Given the description of an element on the screen output the (x, y) to click on. 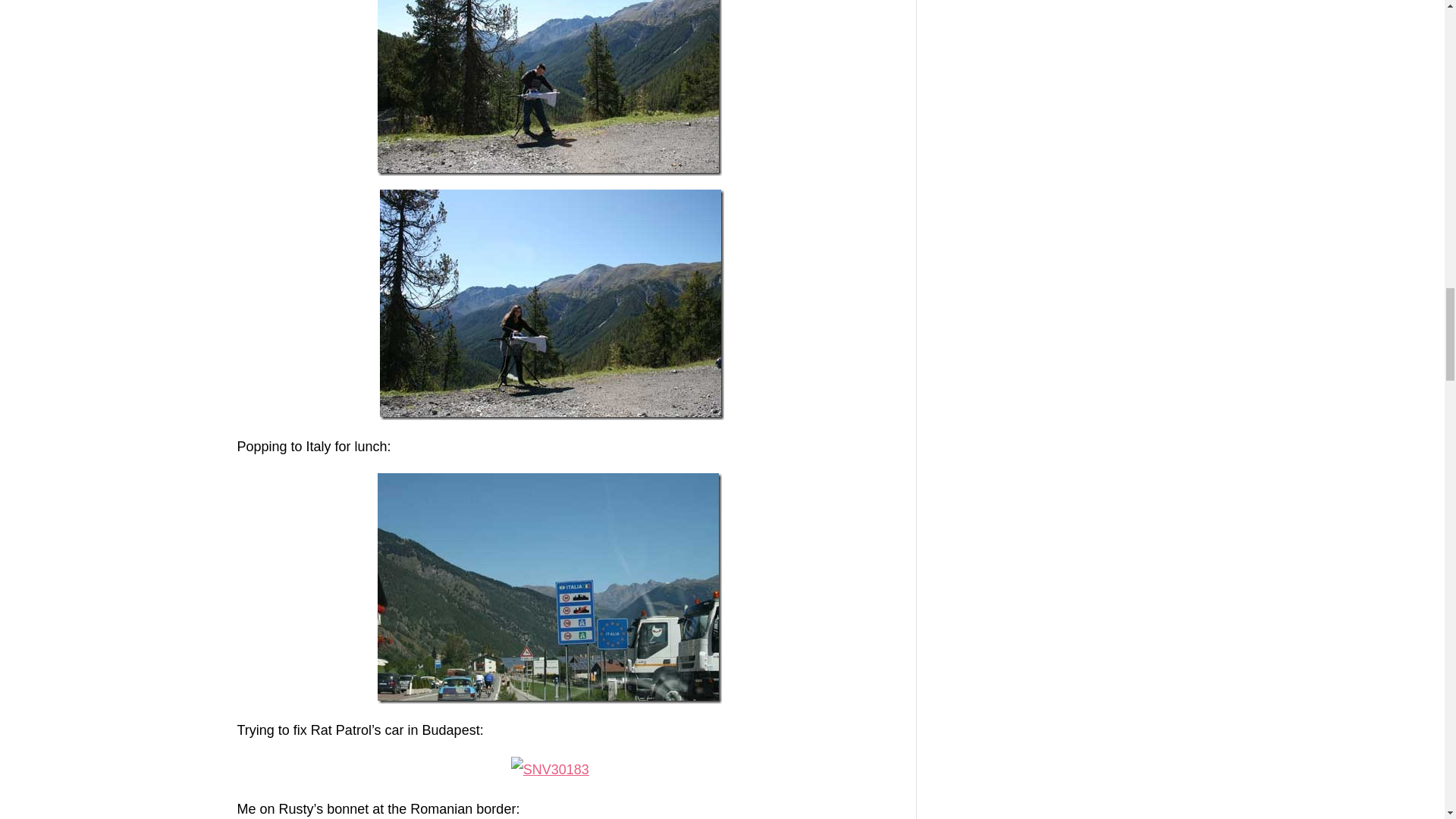
SNV30183 (550, 769)
